Given the description of an element on the screen output the (x, y) to click on. 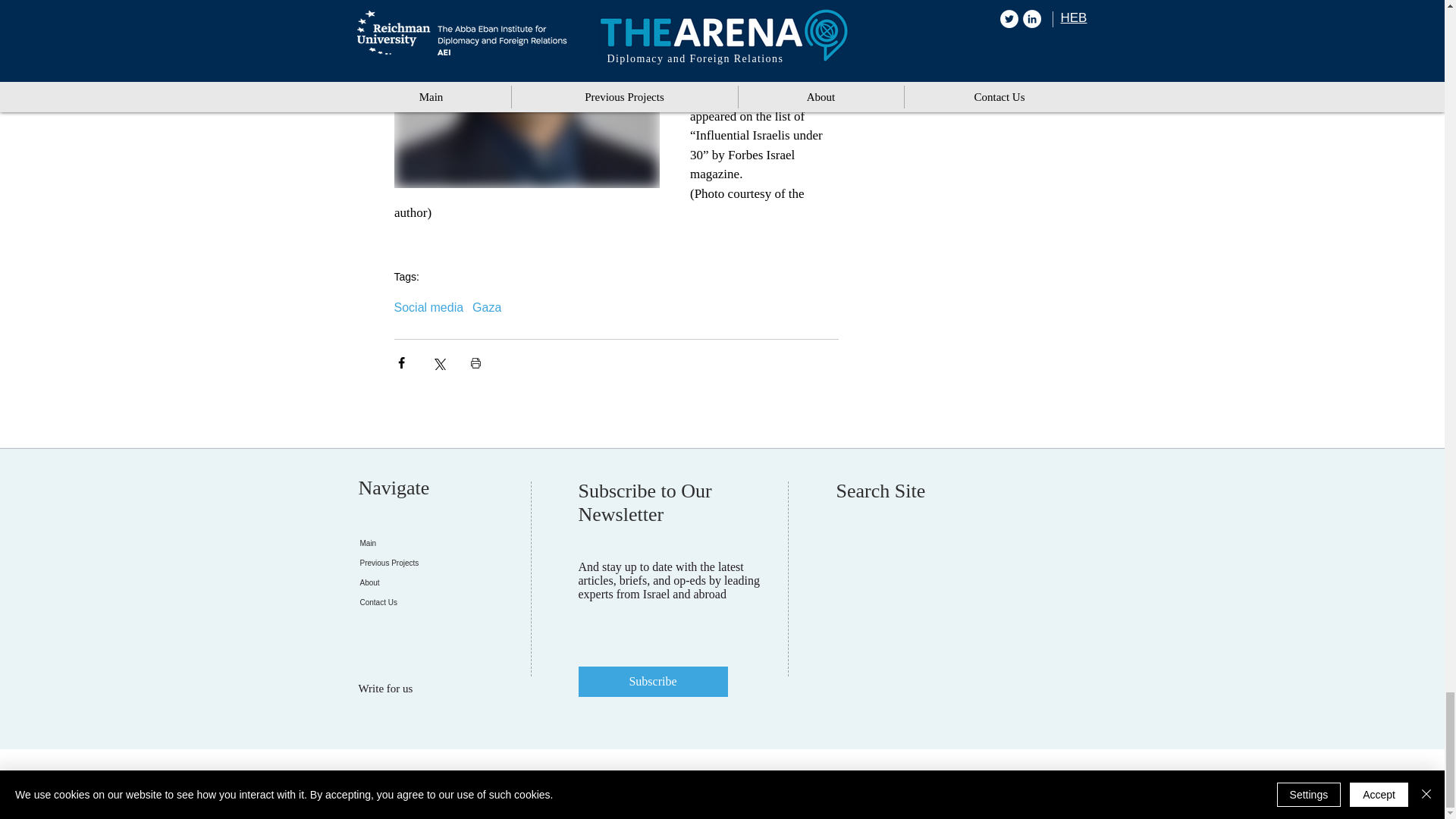
Social media (429, 307)
Previous Projects (444, 563)
Main (444, 543)
Subscribe (652, 681)
Contact Us (444, 602)
Gaza (485, 307)
Write for us (394, 688)
About (444, 582)
Powered by Wixit (1040, 780)
